Given the description of an element on the screen output the (x, y) to click on. 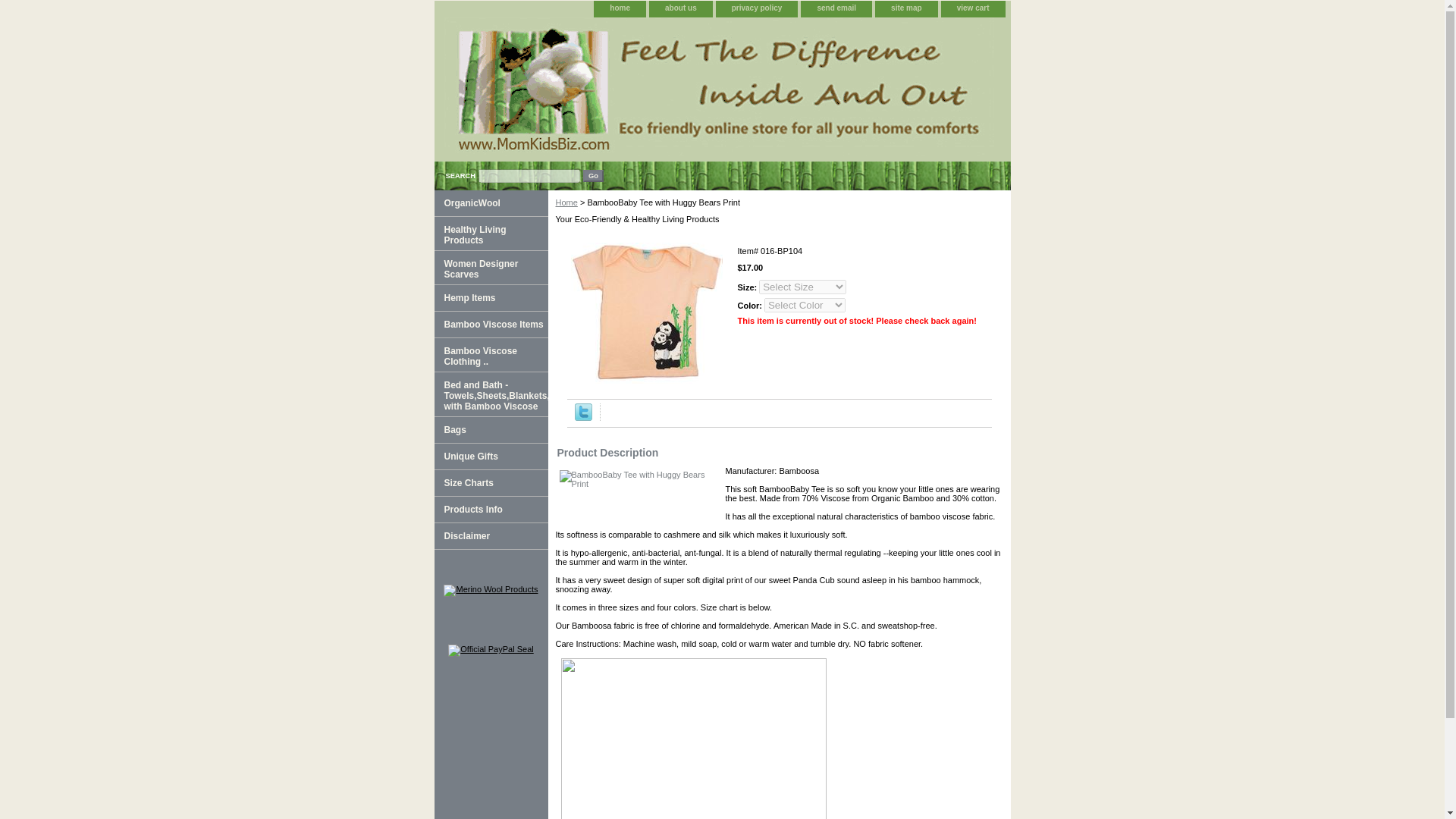
Healthy Living Products (490, 233)
Go (593, 175)
OrganicWool (490, 203)
Women Designer Scarves (490, 267)
home (619, 8)
OrganicWool (490, 203)
send email (836, 8)
BambooBaby Tee with Huggy Bears Print (633, 492)
Disclaimer (490, 536)
BambooBaby Tee with Huggy Bears Print (646, 313)
